Given the description of an element on the screen output the (x, y) to click on. 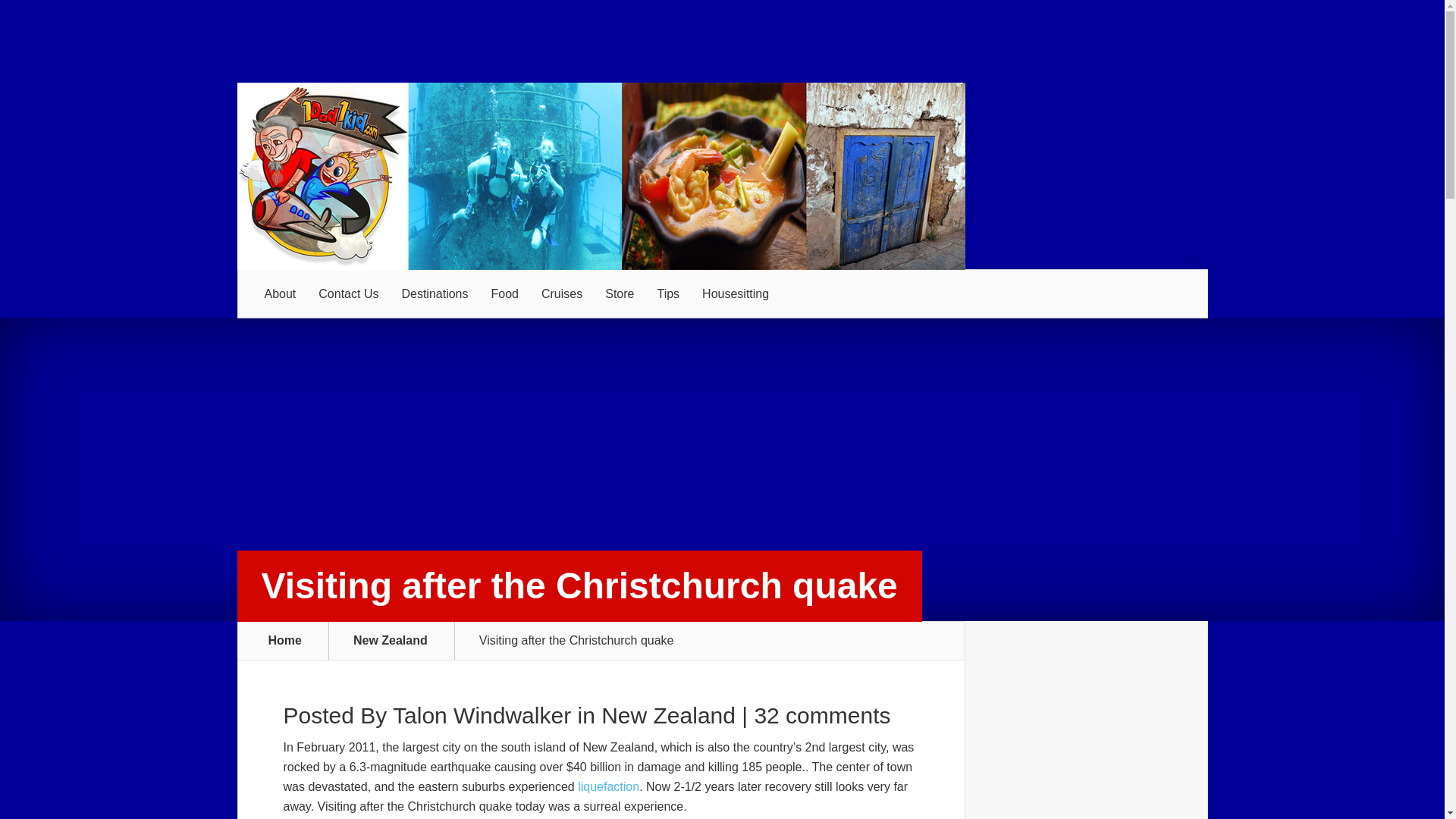
About (280, 294)
Destinations (434, 294)
Contact Us (348, 294)
Posts by Talon Windwalker (481, 715)
